Given the description of an element on the screen output the (x, y) to click on. 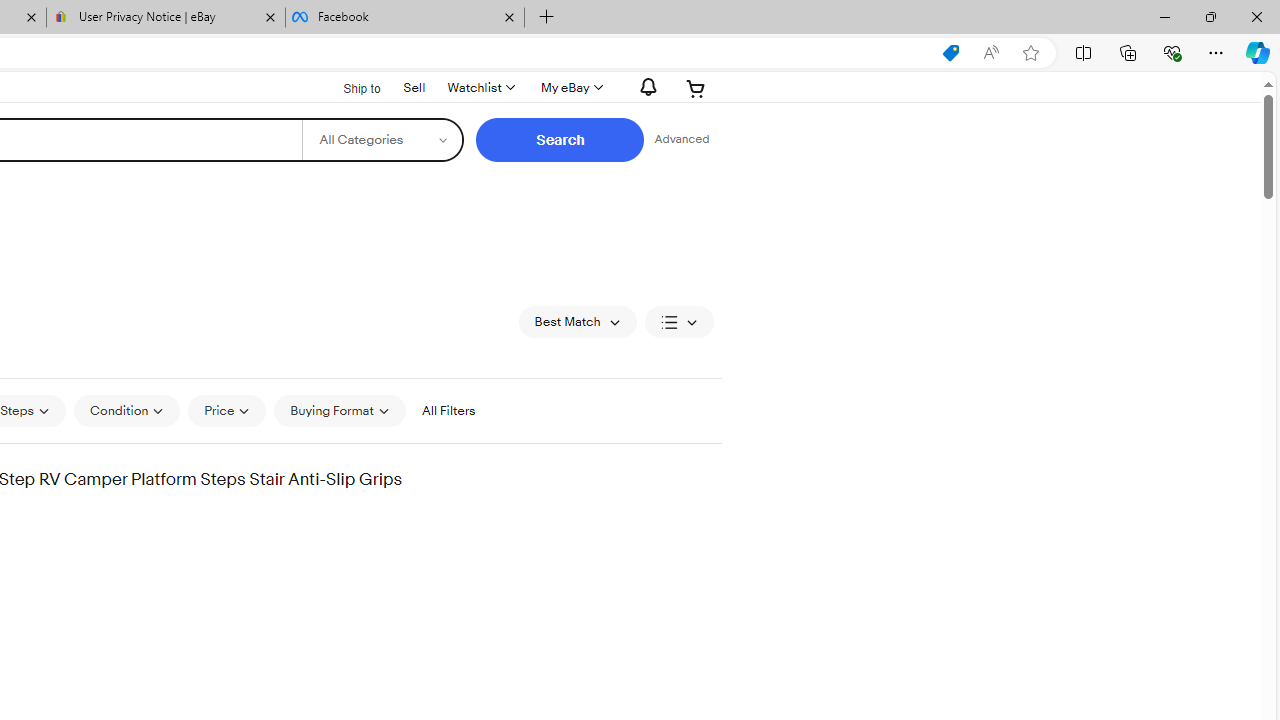
Sell (413, 86)
Restore (1210, 16)
This site has coupons! Shopping in Microsoft Edge (950, 53)
Price (227, 410)
Expand Cart (696, 88)
User Privacy Notice | eBay (166, 17)
All Filters (448, 410)
Your shopping cart (696, 88)
Sell (414, 87)
Buying Format (339, 410)
Read aloud this page (Ctrl+Shift+U) (991, 53)
Ship to (349, 86)
My eBay (569, 88)
Watchlist (479, 88)
Browser essentials (1171, 52)
